Given the description of an element on the screen output the (x, y) to click on. 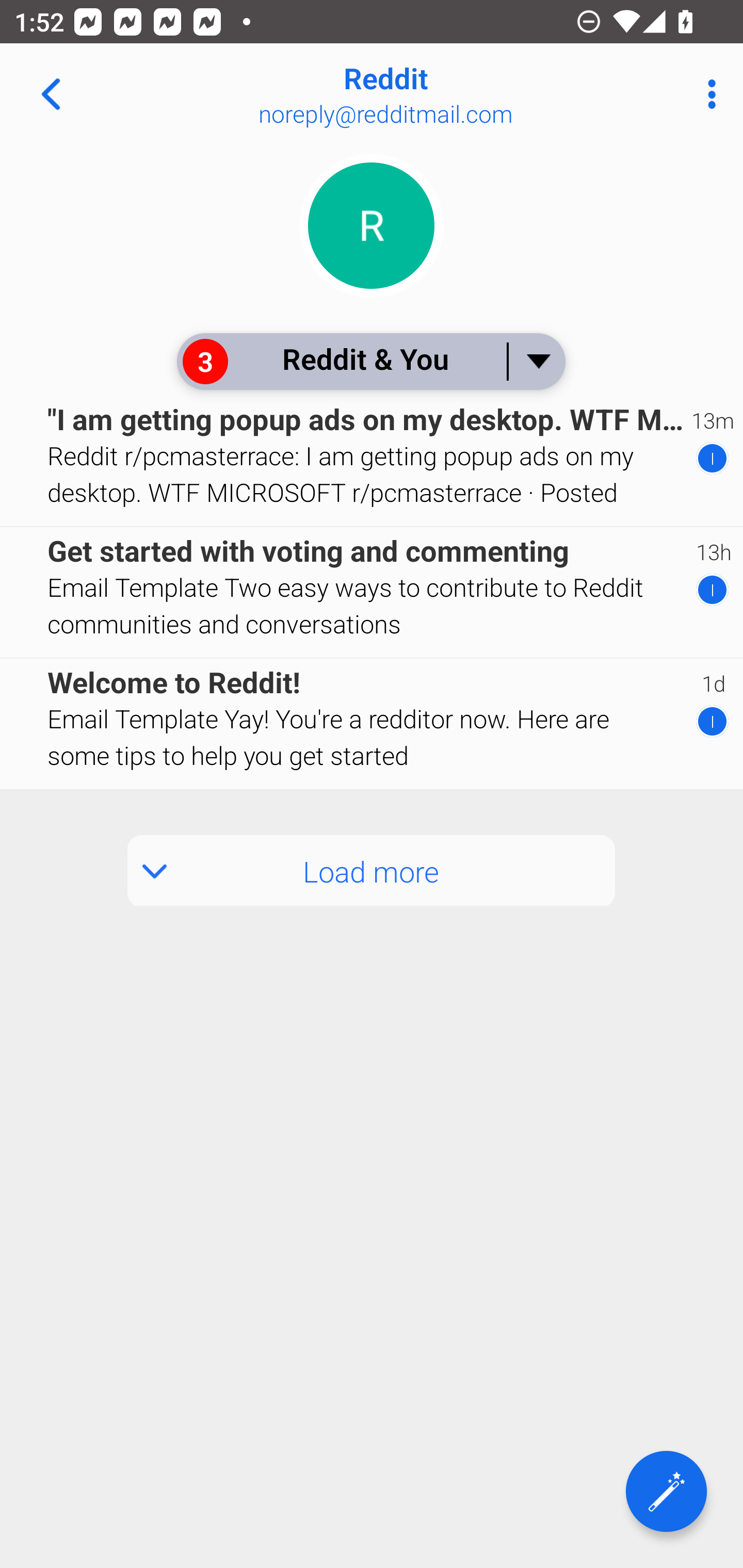
Navigate up (50, 93)
Reddit noreply@redditmail.com (436, 93)
More Options (706, 93)
3 Reddit & You (370, 361)
Load more (371, 870)
